Given the description of an element on the screen output the (x, y) to click on. 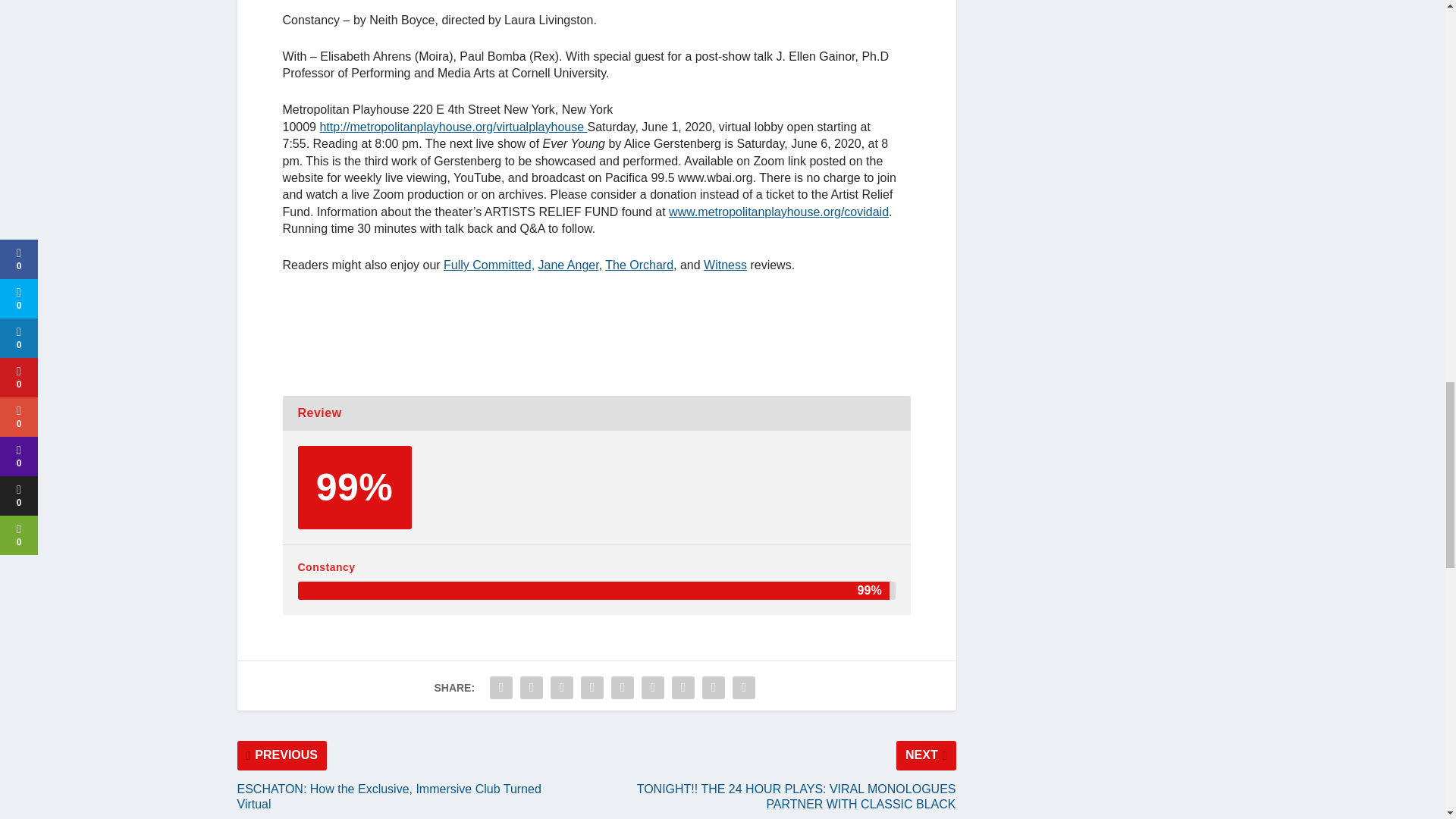
Share "Constancy" via Stumbleupon (683, 687)
Share "Constancy" via Email (713, 687)
Share "Constancy" via LinkedIn (622, 687)
Share "Constancy" via Tumblr (561, 687)
Share "Constancy" via Pinterest (591, 687)
Share "Constancy" via Buffer (652, 687)
Share "Constancy" via Print (743, 687)
Share "Constancy" via Facebook (501, 687)
Share "Constancy" via Twitter (531, 687)
